Given the description of an element on the screen output the (x, y) to click on. 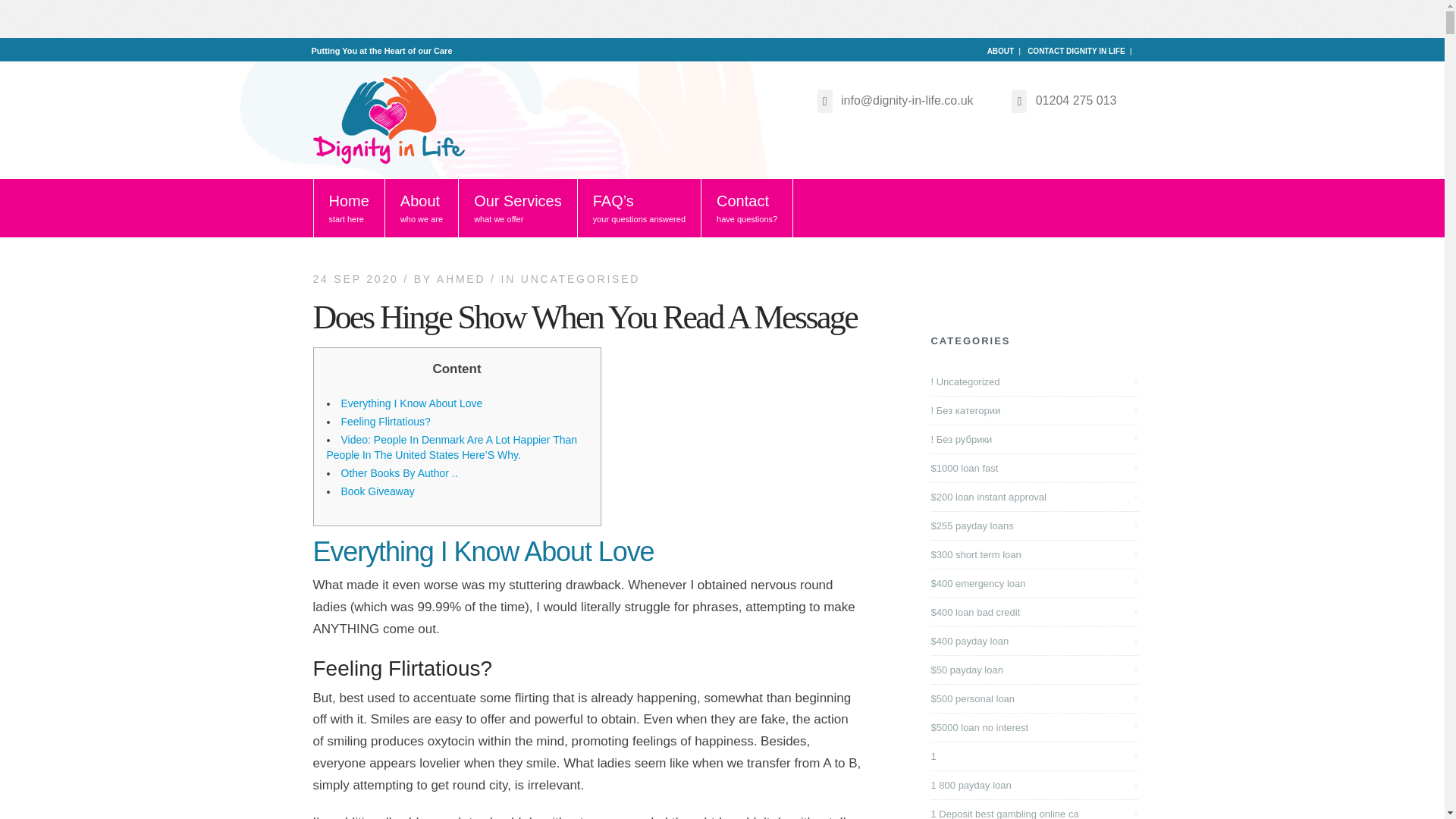
! Uncategorized (966, 381)
Home (348, 208)
Contact (747, 208)
Other Books By Author .. (399, 472)
CONTACT DIGNITY IN LIFE (1076, 50)
About (421, 208)
Book Giveaway (377, 491)
ABOUT (1000, 50)
Feeling Flirtatious? (385, 421)
UNCATEGORISED (580, 278)
Everything I Know About Love (411, 403)
Our Services (518, 208)
